Given the description of an element on the screen output the (x, y) to click on. 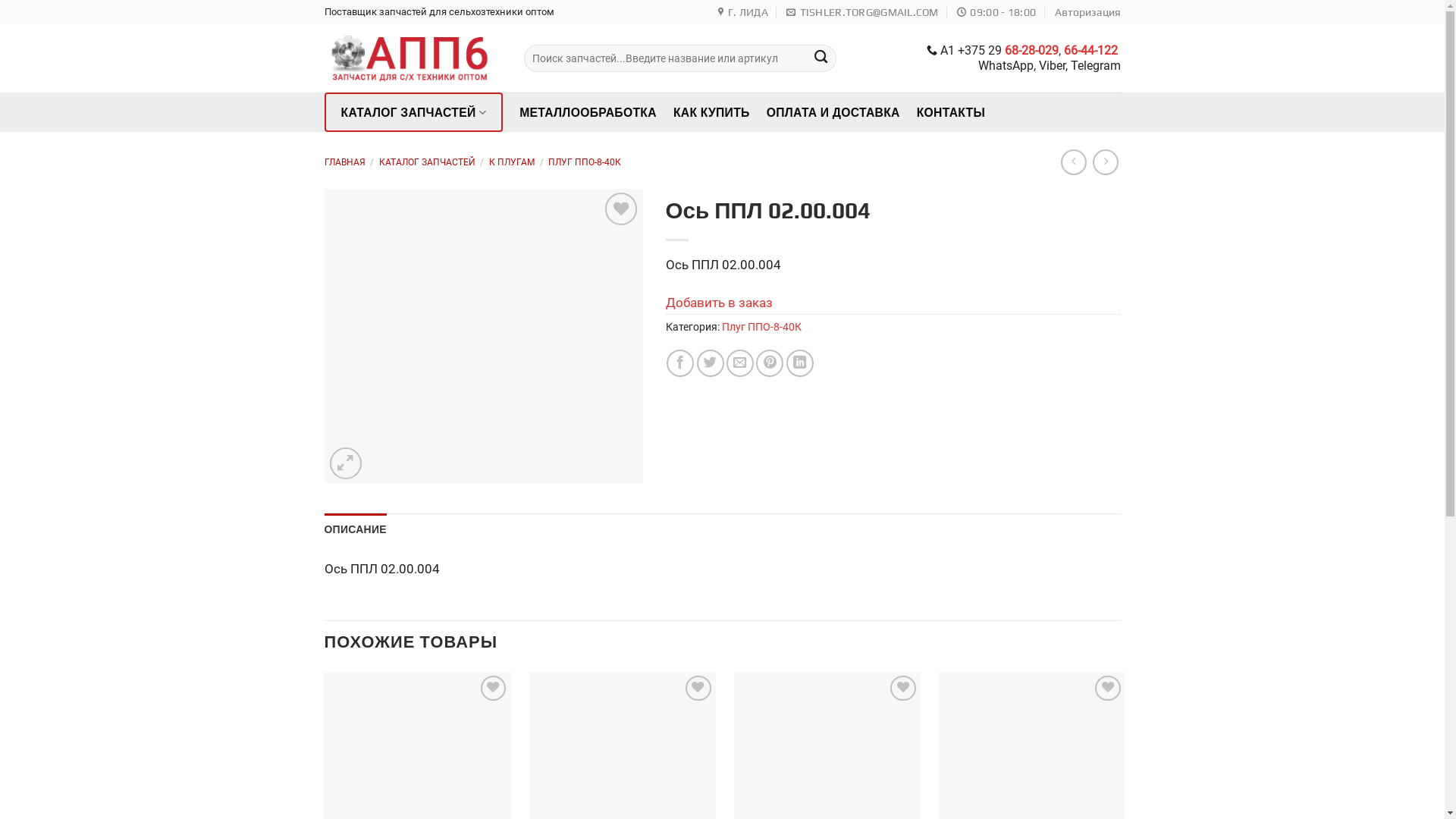
09:00 - 18:00 Element type: text (996, 12)
68-28-029 Element type: text (1030, 50)
Share on LinkedIn Element type: hover (799, 362)
app6.by Element type: hover (412, 58)
TISHLER.TORG@GMAIL.COM Element type: text (862, 12)
66-44-122 Element type: text (1090, 50)
